Given the description of an element on the screen output the (x, y) to click on. 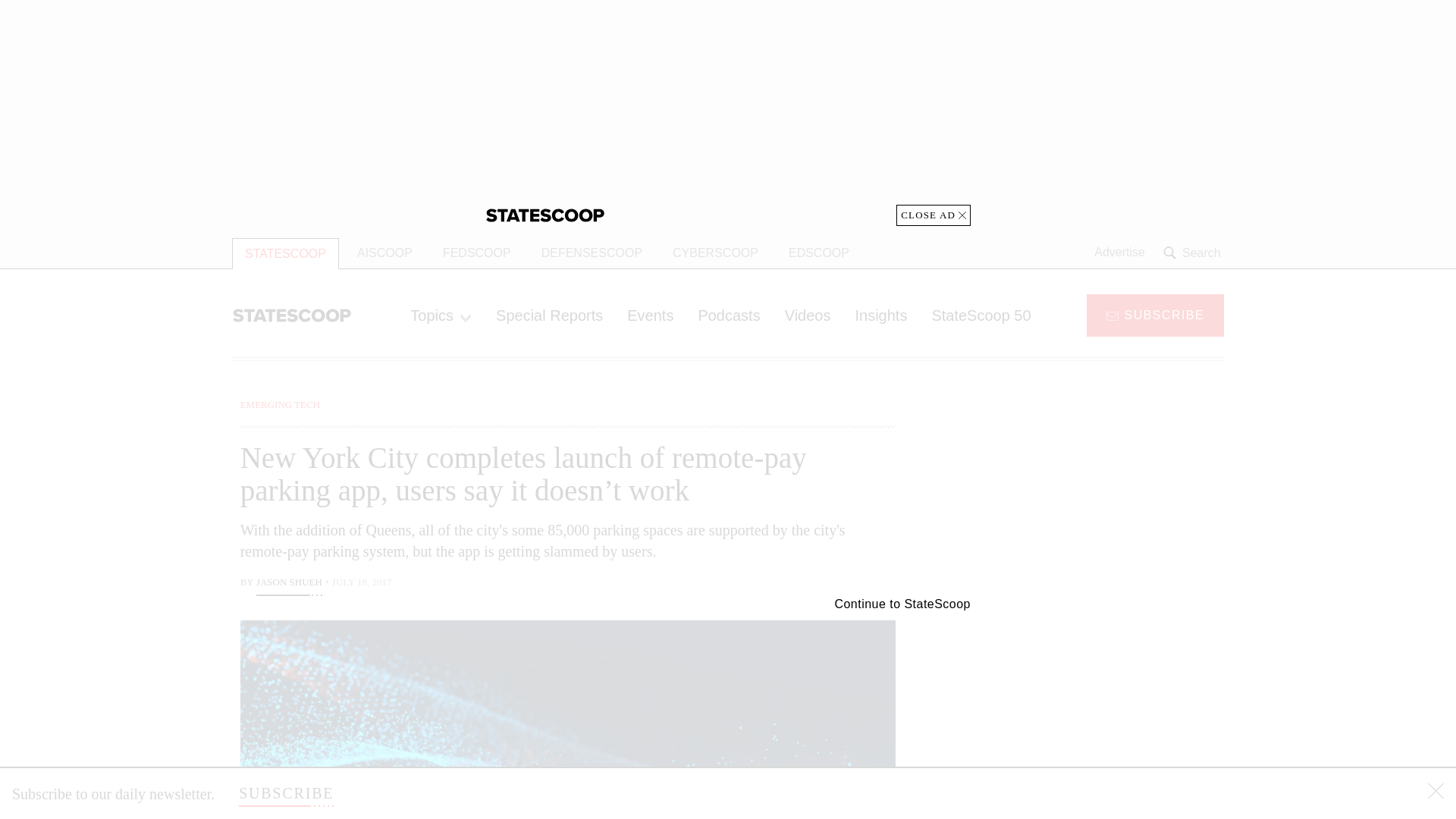
Topics (440, 315)
Podcasts (728, 315)
DEFENSESCOOP (591, 253)
STATESCOOP (285, 253)
CYBERSCOOP (715, 253)
StateScoop 50 (980, 315)
Videos (808, 315)
SUBSCRIBE (285, 793)
